Given the description of an element on the screen output the (x, y) to click on. 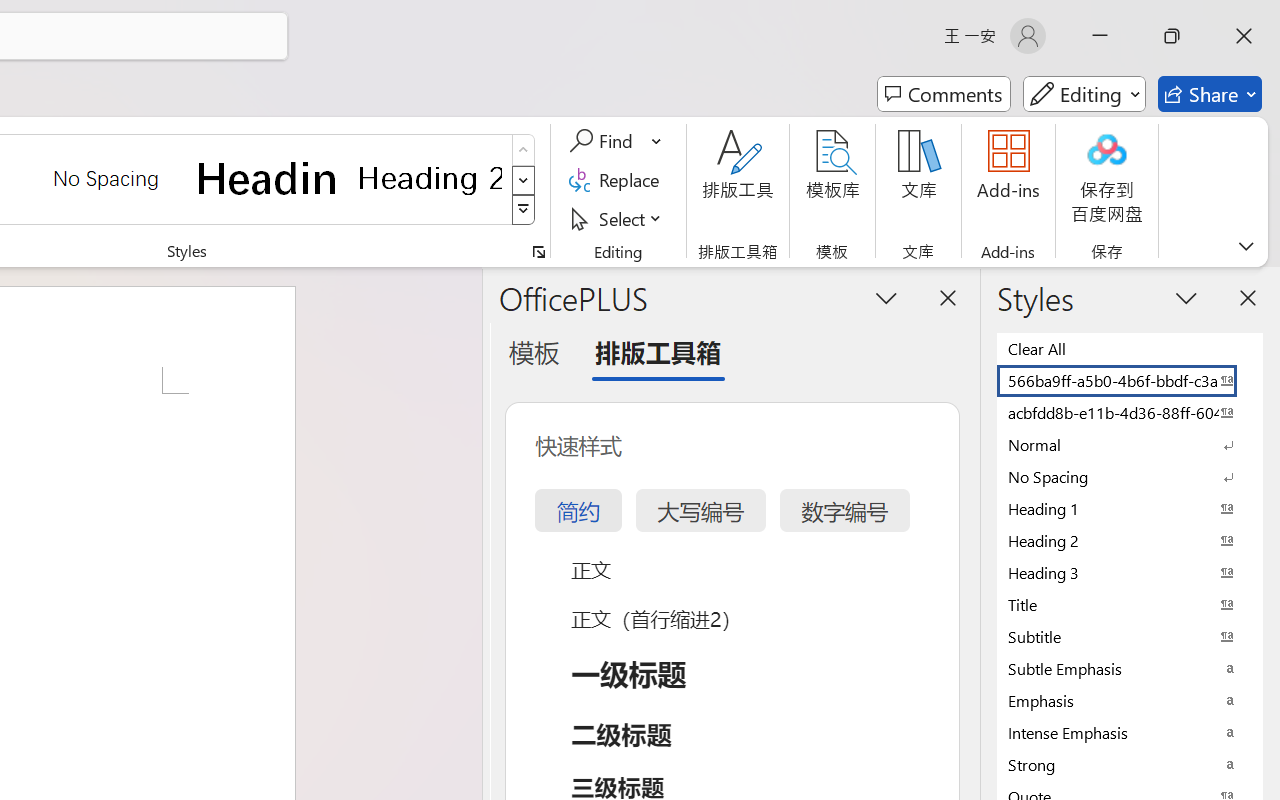
Styles (523, 209)
Select (618, 218)
Heading 3 (1130, 572)
Share (1210, 94)
566ba9ff-a5b0-4b6f-bbdf-c3ab41993fc2 (1130, 380)
Row up (523, 150)
Close (1244, 36)
Task Pane Options (886, 297)
Subtitle (1130, 636)
Emphasis (1130, 700)
Normal (1130, 444)
Heading 1 (267, 178)
No Spacing (1130, 476)
